Given the description of an element on the screen output the (x, y) to click on. 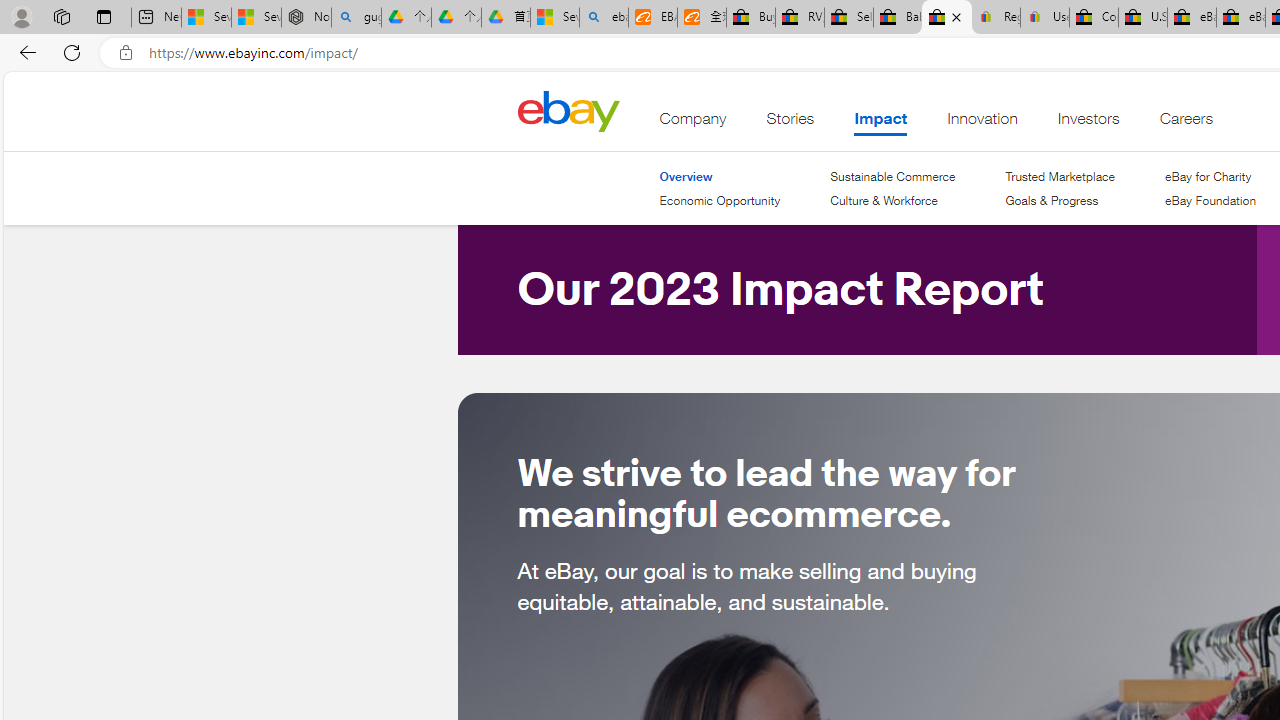
Innovation (982, 123)
Refresh (72, 52)
Buy Auto Parts & Accessories | eBay (750, 17)
Economic Opportunity (719, 201)
eBay Foundation (1209, 201)
Baby Keepsakes & Announcements for sale | eBay (897, 17)
Close tab (956, 16)
New tab (155, 17)
Company (693, 123)
ebay - Search (603, 17)
Culture & Workforce (883, 200)
eBay Inc. Reports Third Quarter 2023 Results (1240, 17)
Back (24, 52)
